Given the description of an element on the screen output the (x, y) to click on. 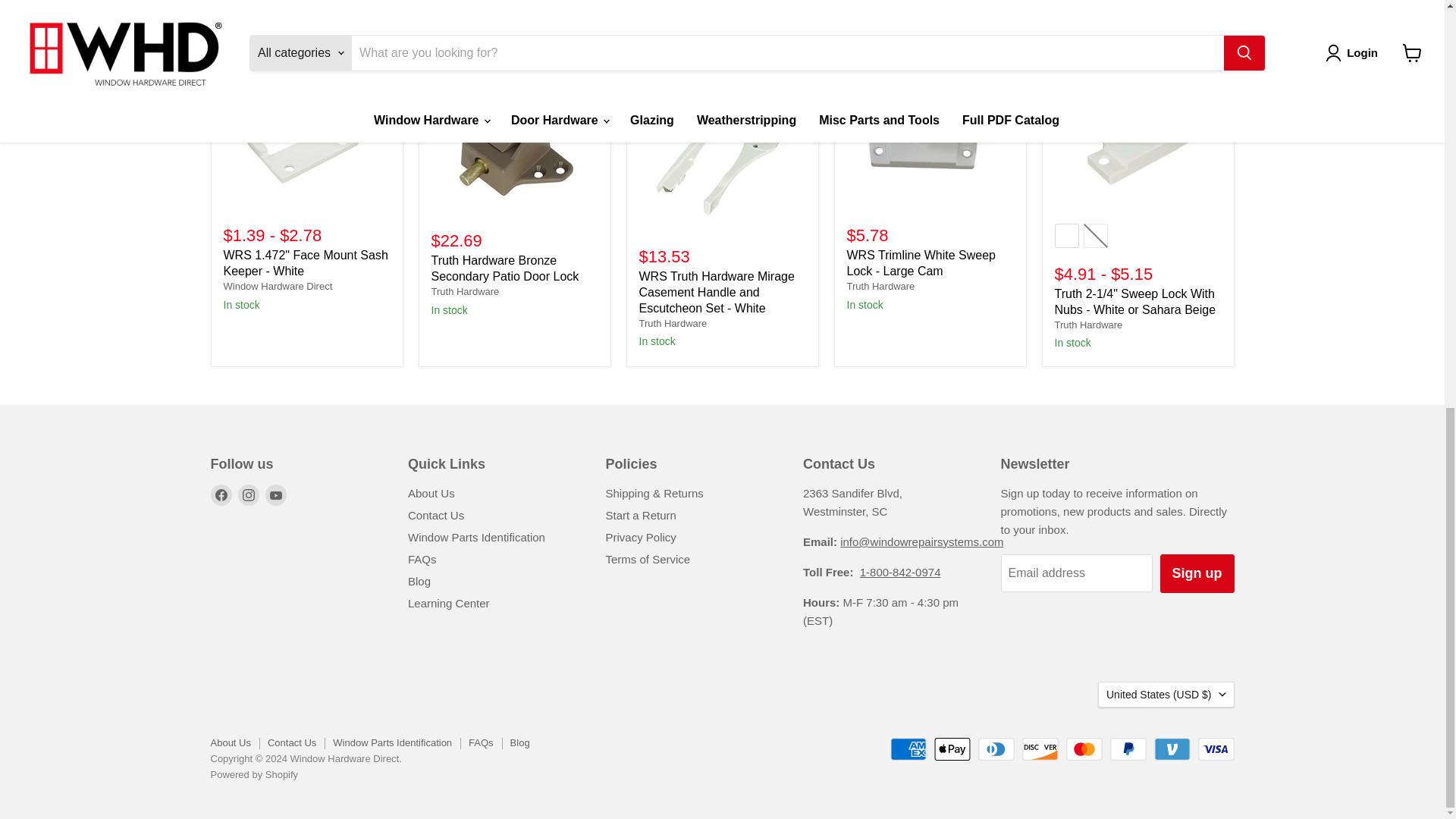
Facebook (221, 495)
YouTube (275, 495)
American Express (907, 748)
Instagram (248, 495)
Truth Hardware (1088, 324)
Truth Hardware (879, 285)
Truth Hardware (464, 291)
Truth Hardware (672, 323)
Window Hardware Direct (276, 285)
tel:18008420974 (900, 571)
